Given the description of an element on the screen output the (x, y) to click on. 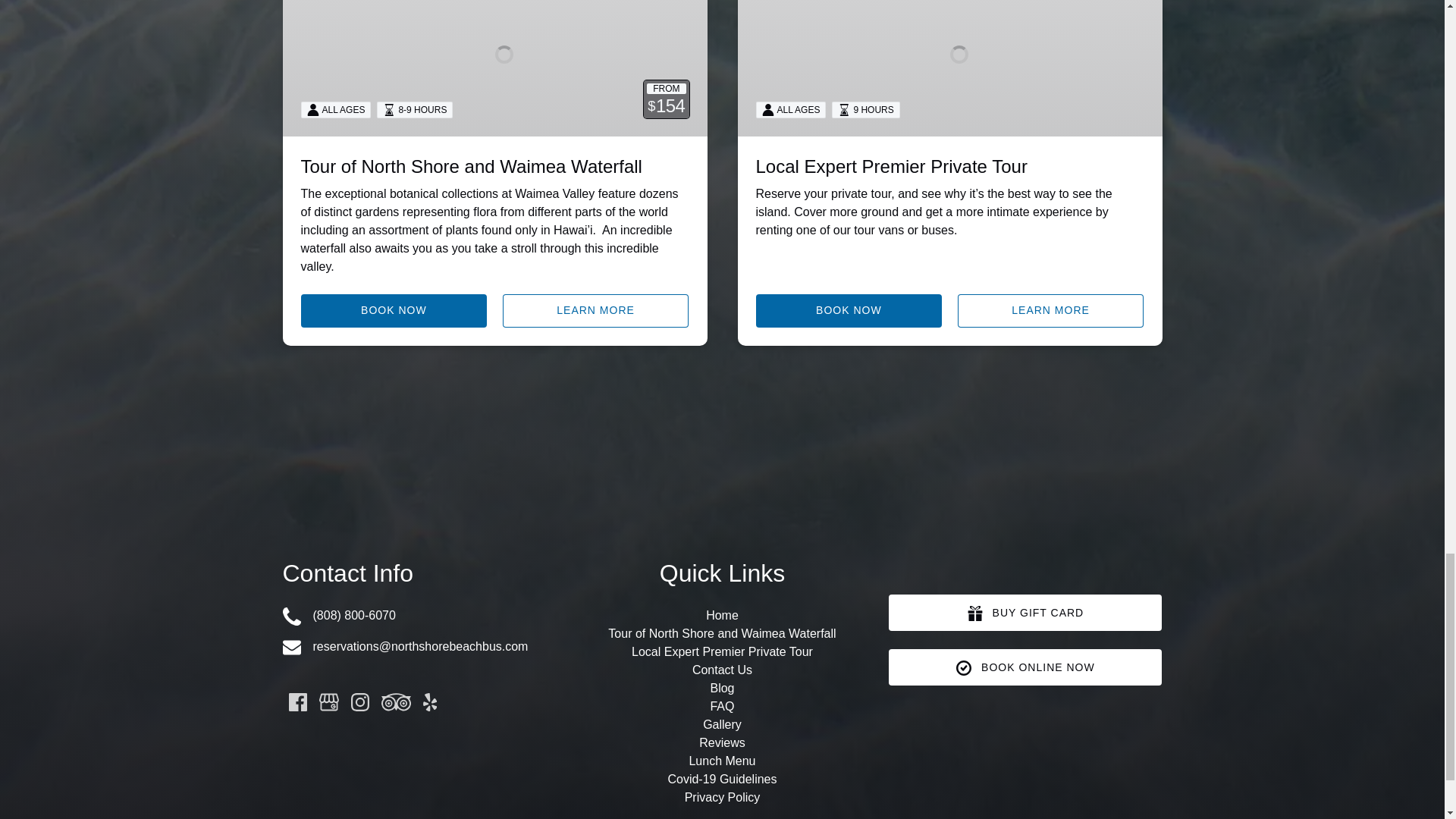
CHECKMARK (963, 667)
GIFT (975, 613)
Envelope (290, 647)
Tour of North Shore and Waimea Waterfall (470, 166)
Phone (290, 616)
